Given the description of an element on the screen output the (x, y) to click on. 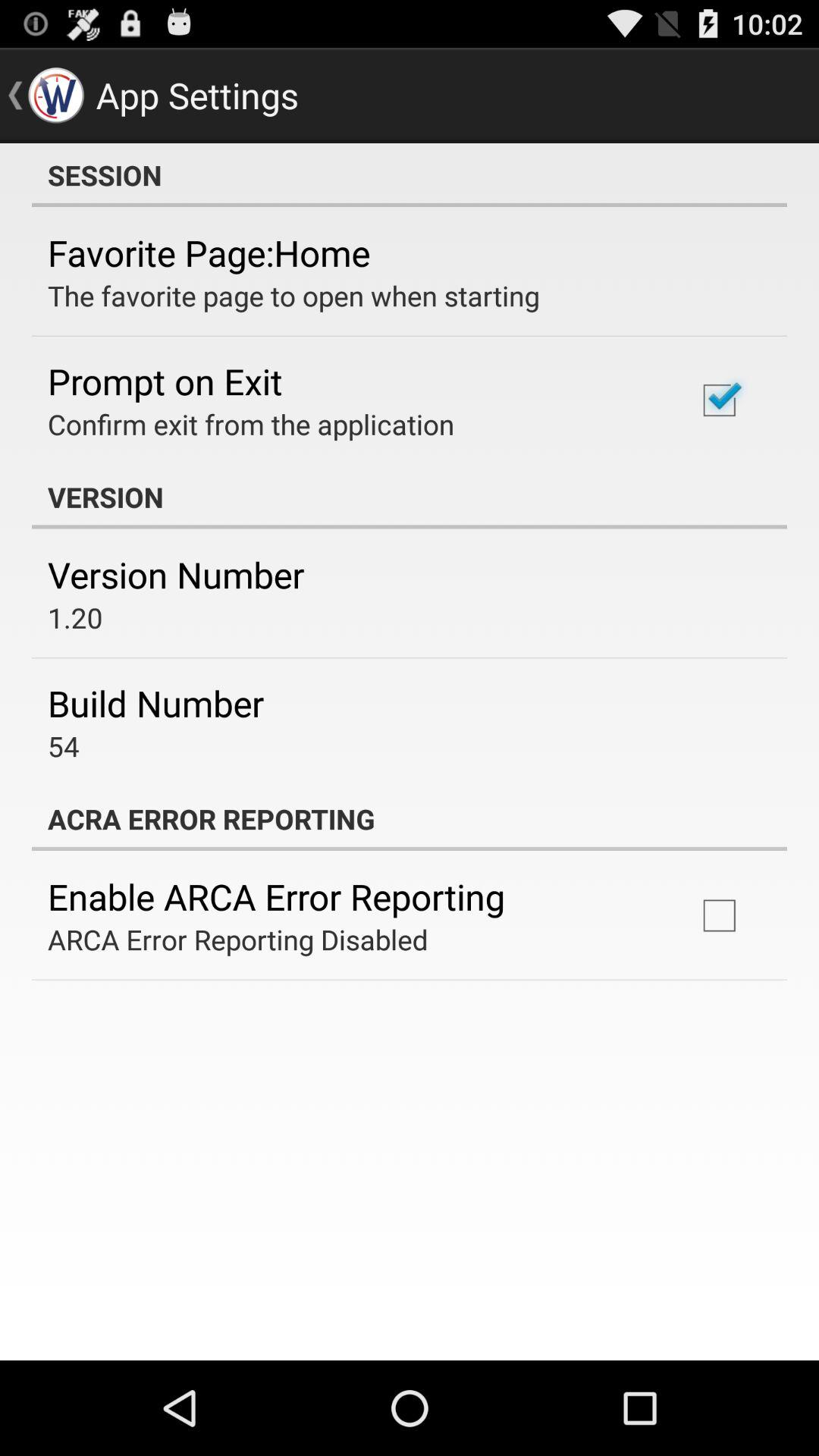
click version number app (175, 574)
